Given the description of an element on the screen output the (x, y) to click on. 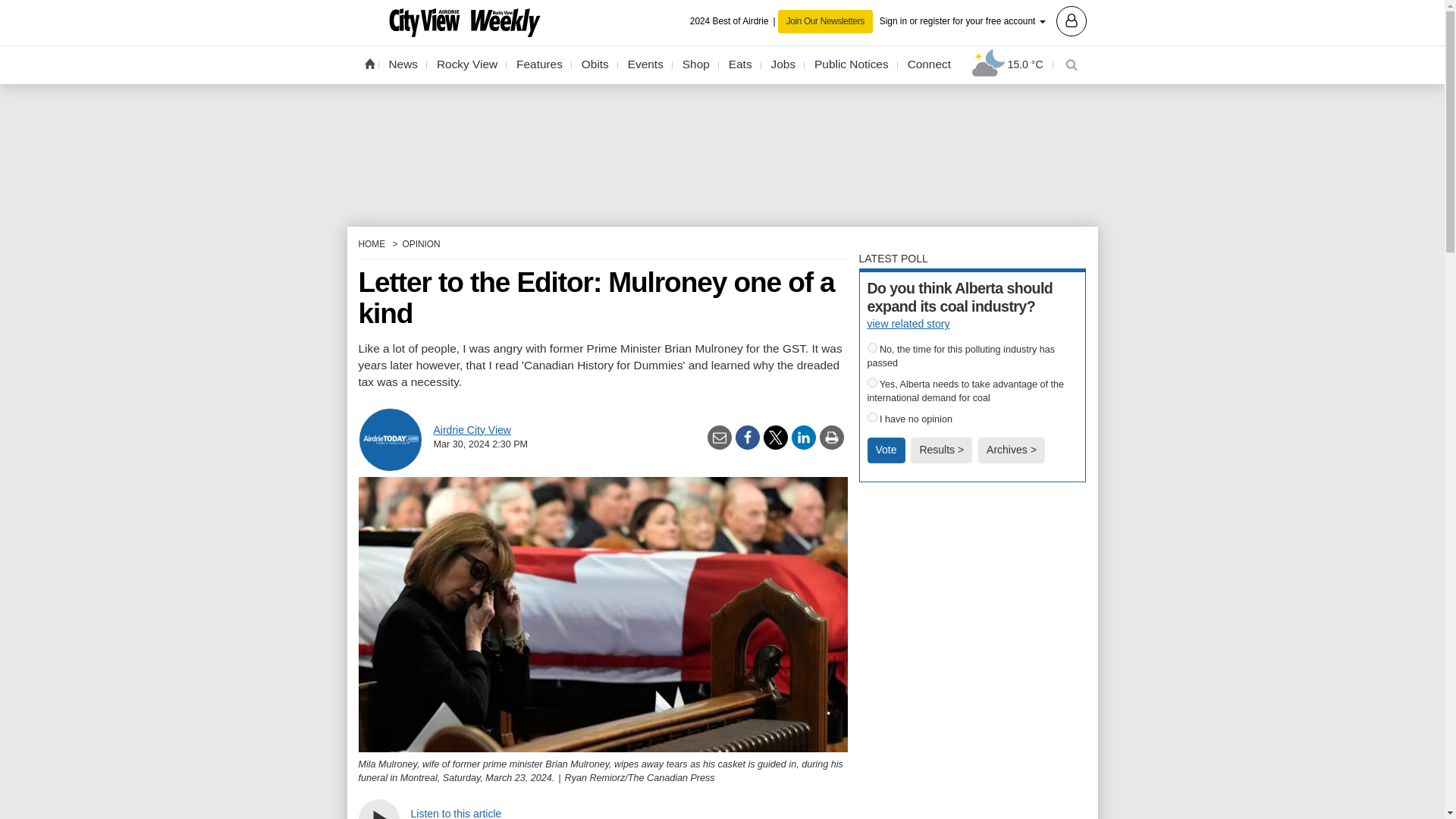
123425 (872, 417)
123424 (872, 382)
Sign in or register for your free account (982, 20)
Join Our Newsletters (824, 21)
123423 (872, 347)
Home (368, 63)
2024 Best of Airdrie (733, 21)
